Given the description of an element on the screen output the (x, y) to click on. 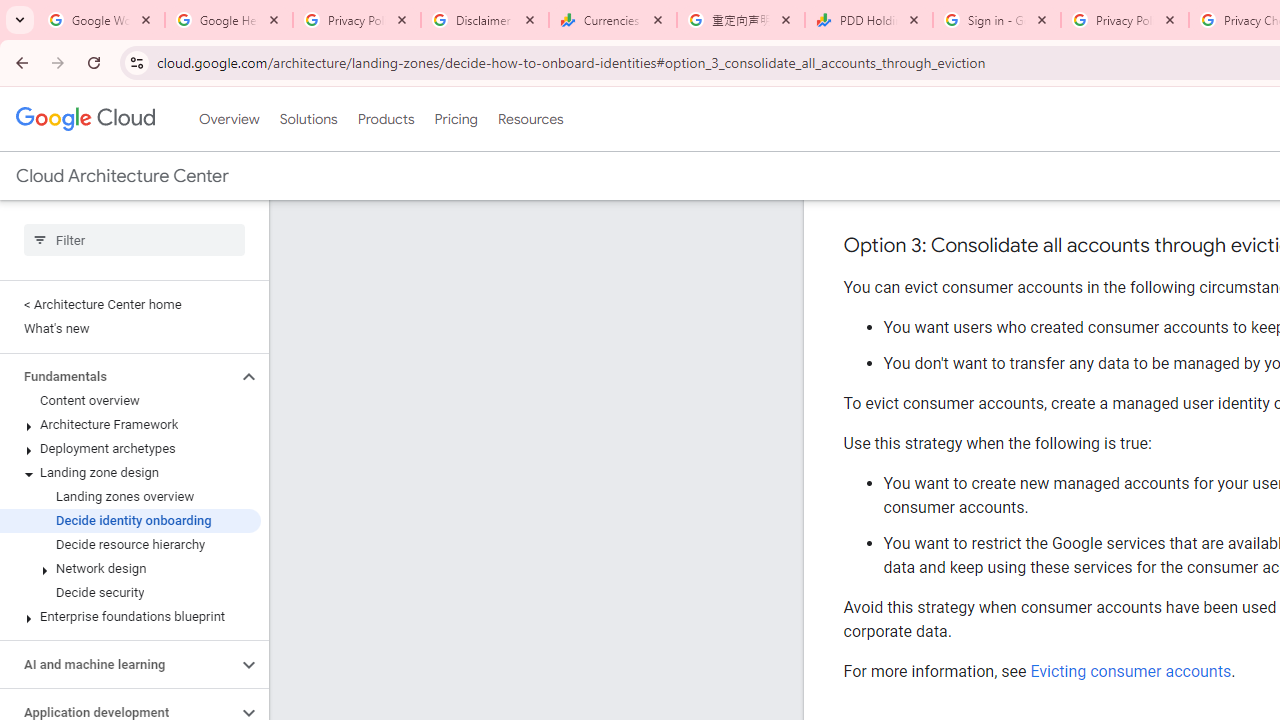
Sign in - Google Accounts (997, 20)
Cloud Architecture Center (122, 175)
< Architecture Center home (130, 304)
Landing zones overview (130, 497)
Migrating consumer accounts (1136, 187)
Decide security (130, 592)
Google Workspace Admin Community (101, 20)
AI and machine learning (118, 664)
